Given the description of an element on the screen output the (x, y) to click on. 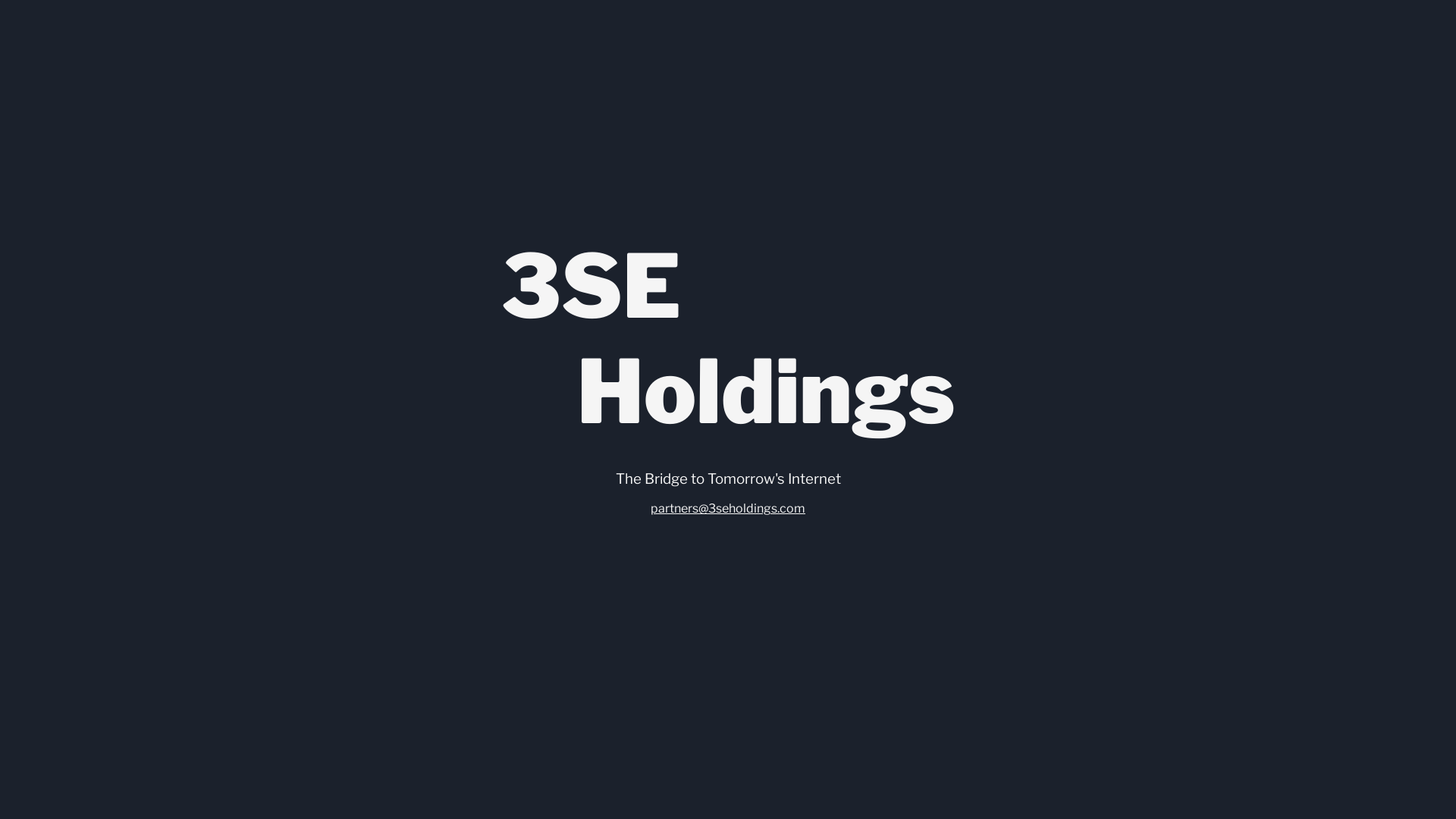
partners@3seholdings.com Element type: text (727, 508)
